Given the description of an element on the screen output the (x, y) to click on. 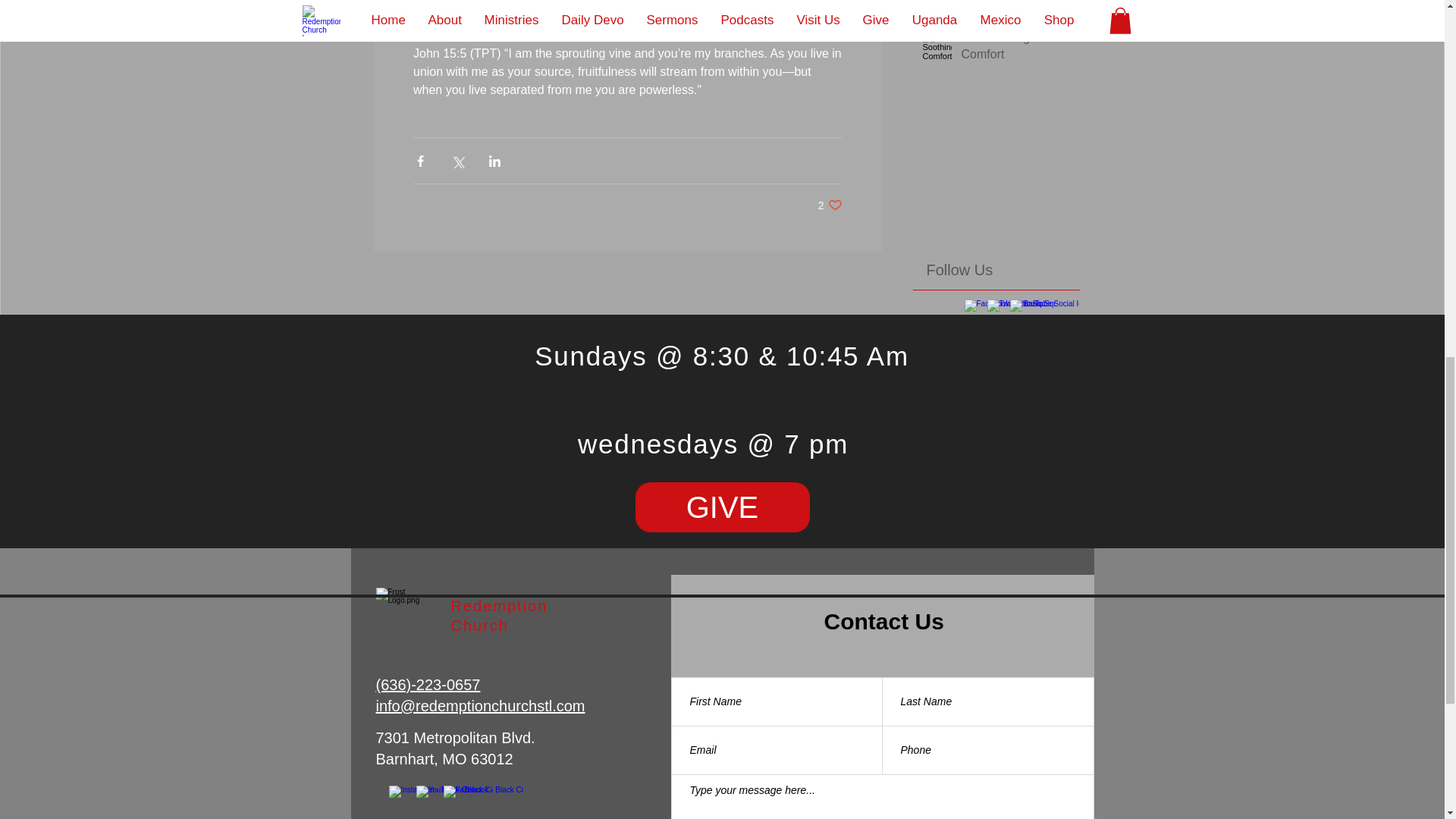
His Soothing Comfort (1015, 49)
GIVE (721, 507)
